Given the description of an element on the screen output the (x, y) to click on. 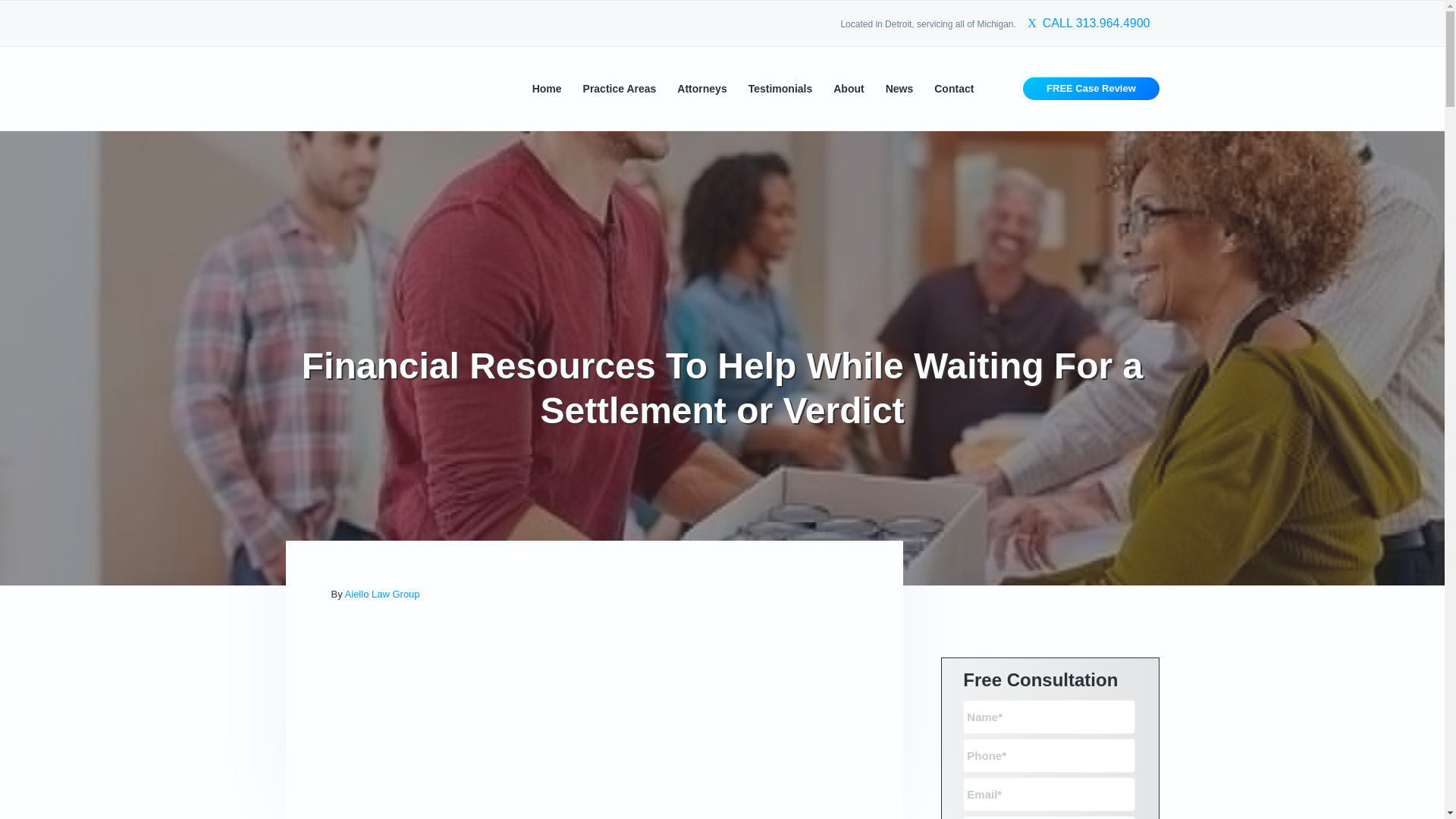
Contact (954, 88)
Attorneys (701, 88)
CALL 313.964.4900 (1088, 23)
Testimonials (780, 88)
FREE Case Review (1090, 88)
News (899, 88)
Search (60, 18)
About (847, 88)
